Given the description of an element on the screen output the (x, y) to click on. 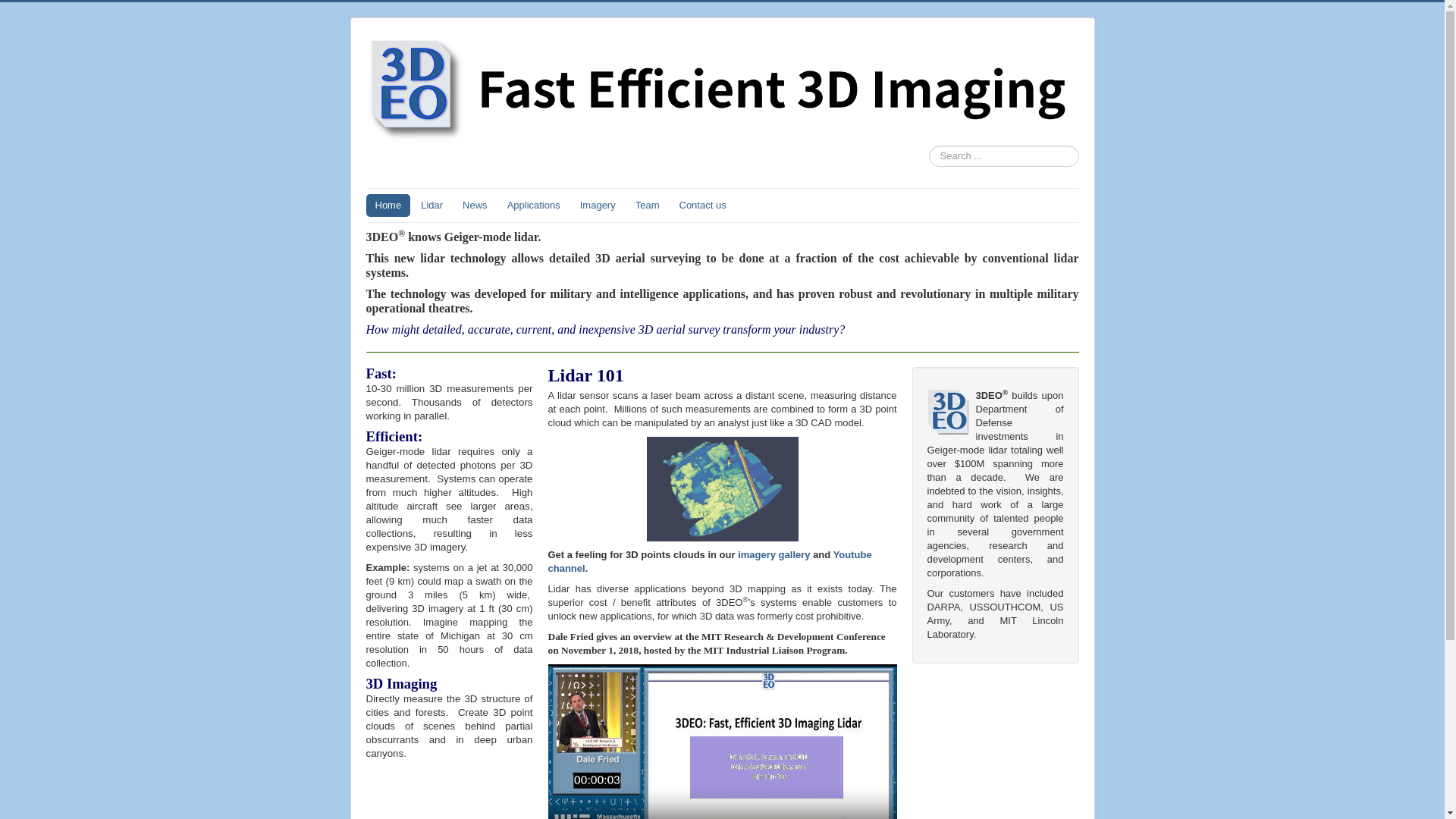
Team Element type: text (647, 205)
Home Element type: text (387, 205)
Applications Element type: text (533, 205)
Imagery Element type: text (597, 205)
Lidar Element type: text (431, 205)
Youtube channel Element type: text (709, 561)
Contact us Element type: text (702, 205)
imagery gallery Element type: text (773, 554)
News Element type: text (474, 205)
